Given the description of an element on the screen output the (x, y) to click on. 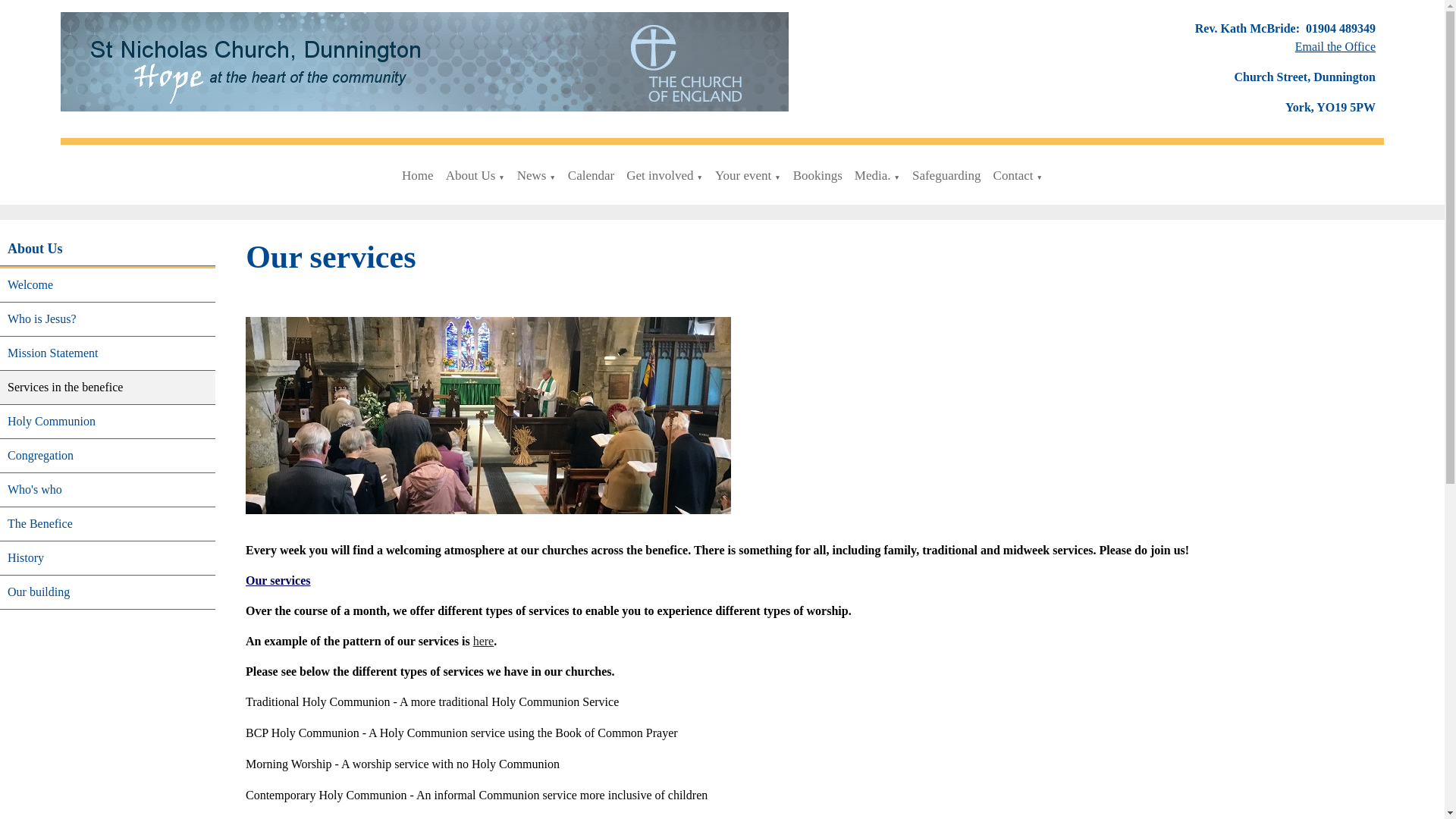
Email the Office (1335, 46)
